Given the description of an element on the screen output the (x, y) to click on. 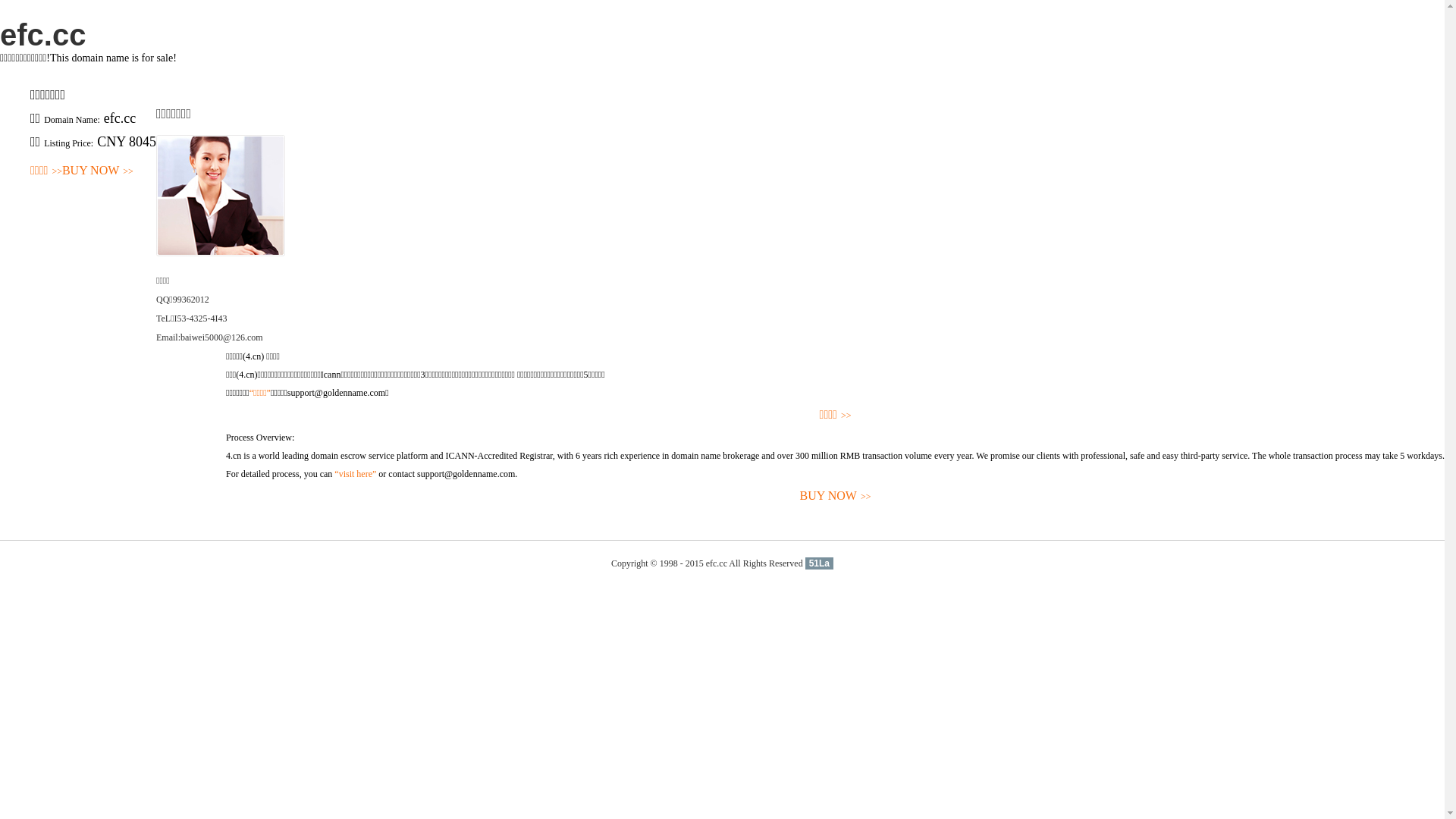
51La Element type: text (819, 563)
BUY NOW>> Element type: text (834, 496)
BUY NOW>> Element type: text (97, 170)
